Given the description of an element on the screen output the (x, y) to click on. 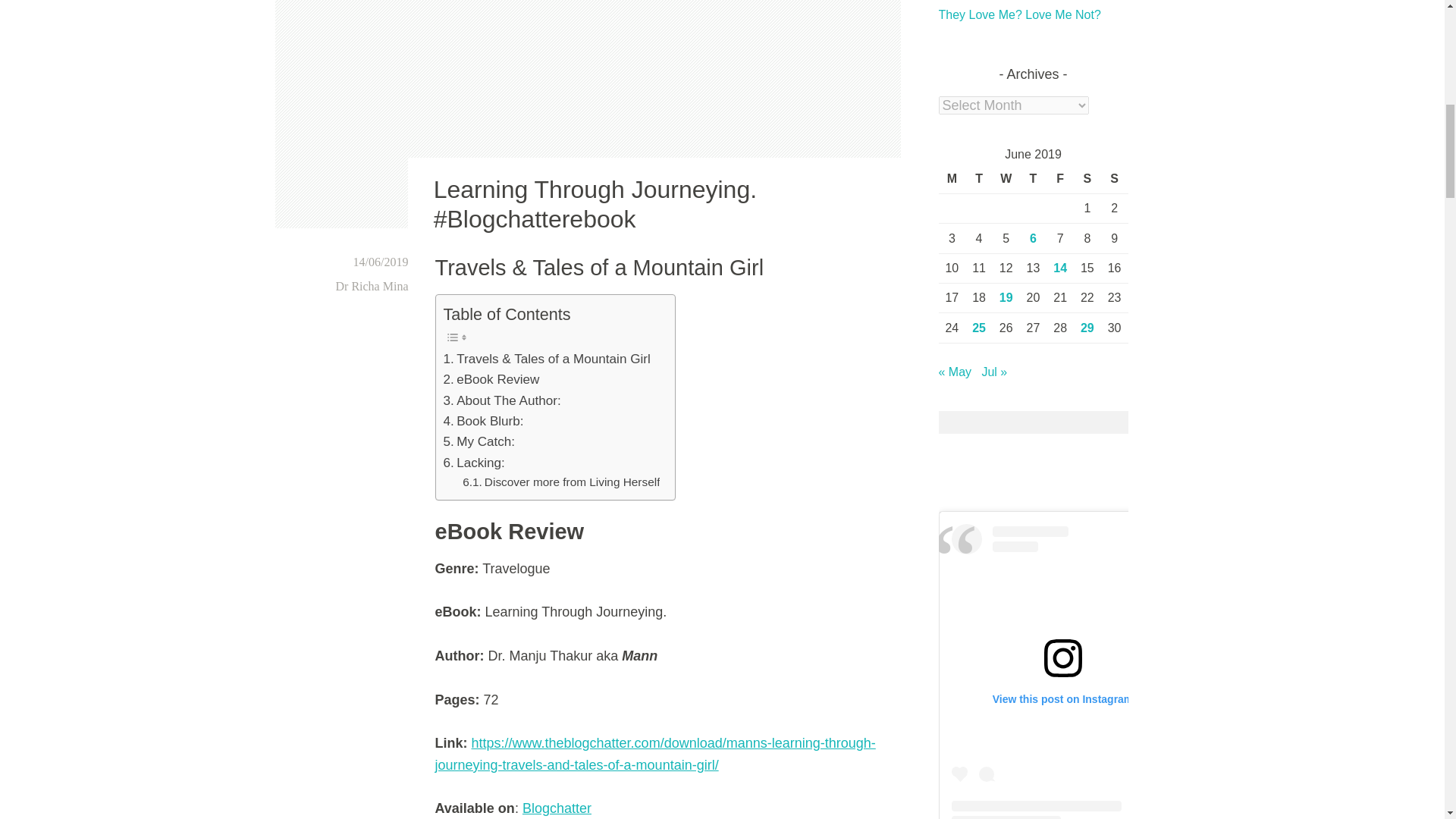
My Catch: (478, 441)
Lacking: (472, 462)
eBook Review (490, 379)
Discover more from Living Herself (561, 482)
About The Author: (501, 400)
Book Blurb: (482, 421)
